Given the description of an element on the screen output the (x, y) to click on. 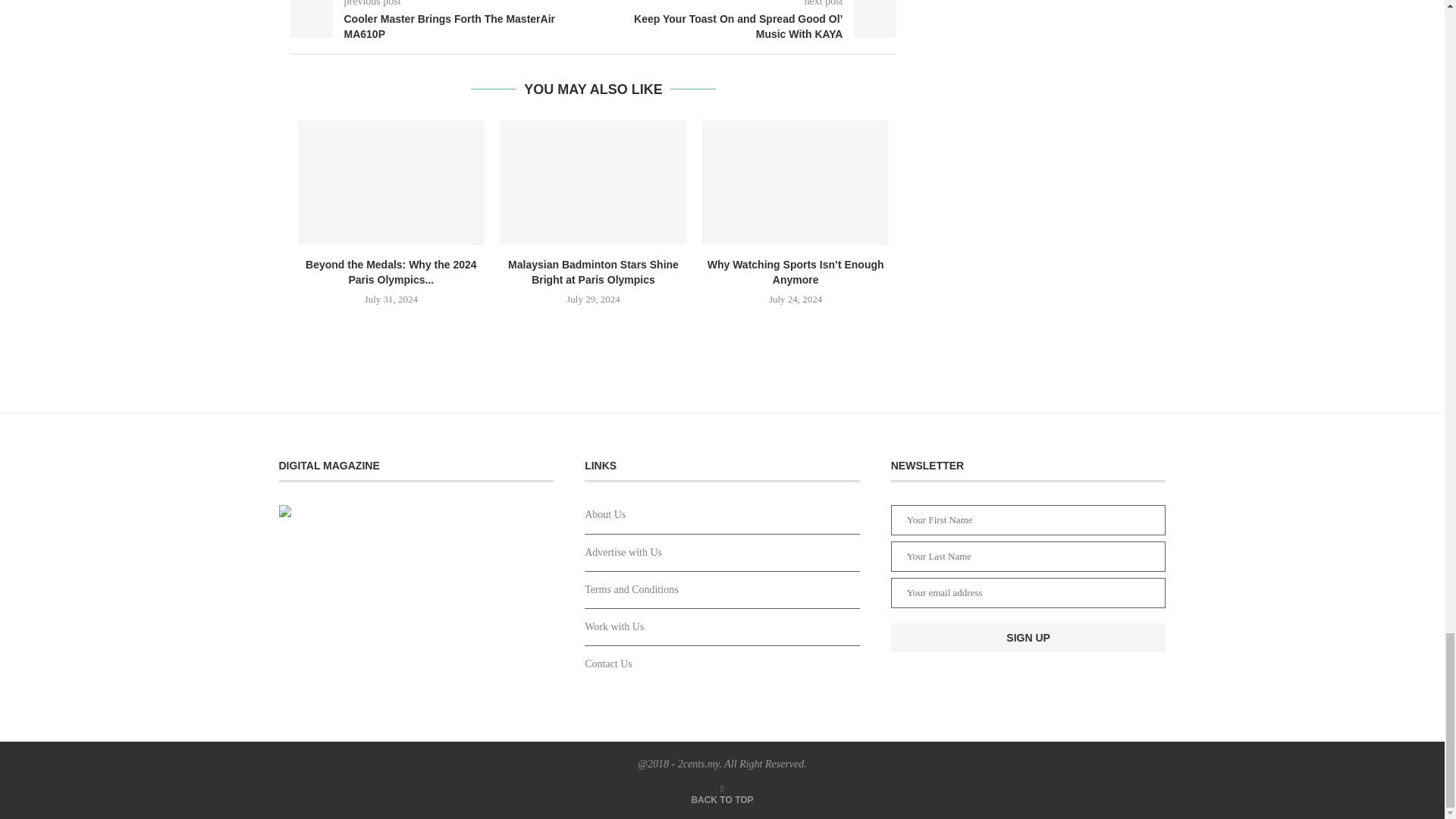
Sign up (1028, 637)
